Given the description of an element on the screen output the (x, y) to click on. 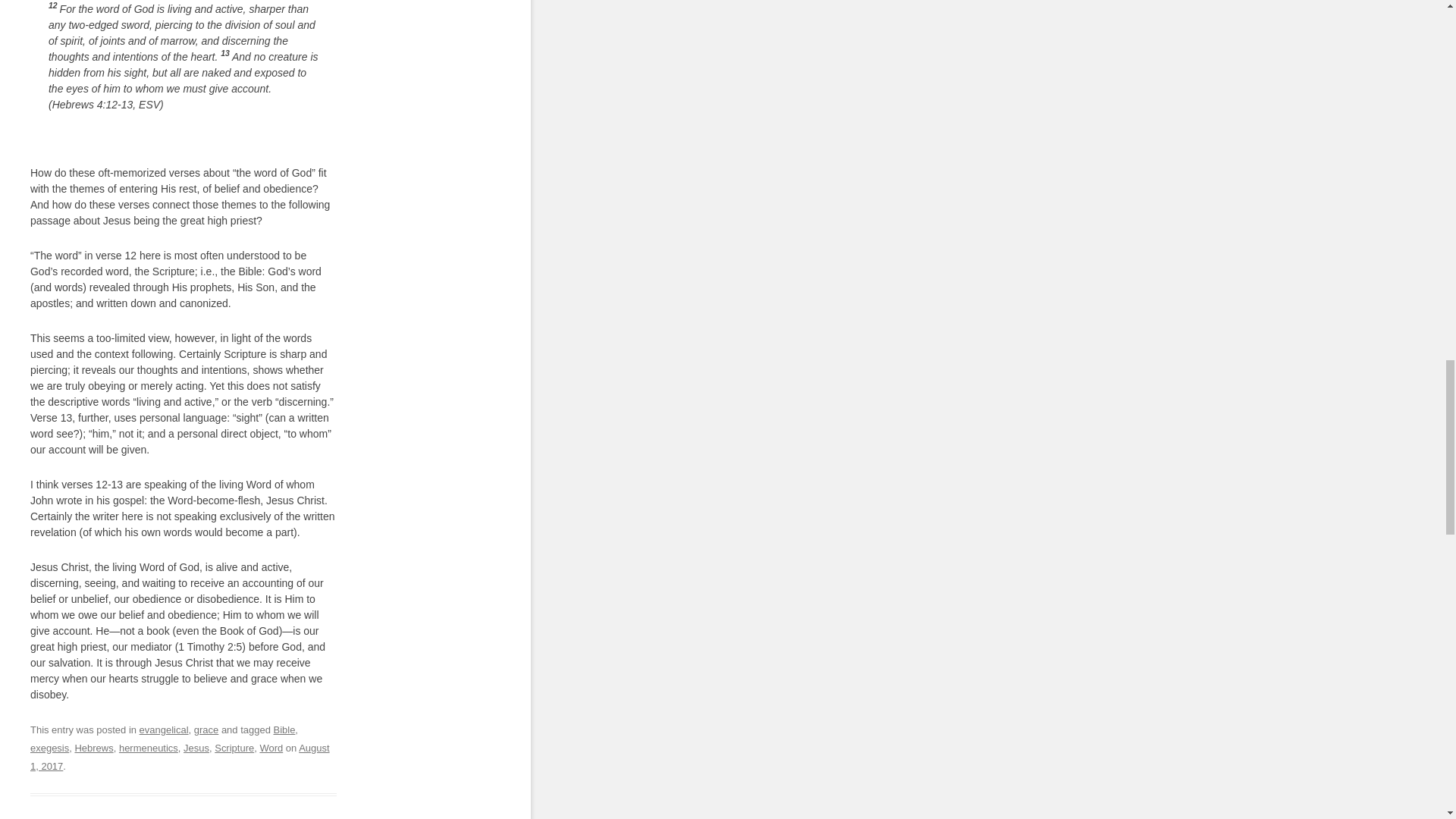
grace (205, 729)
Bible (284, 729)
Hebrews (93, 747)
evangelical (164, 729)
hermeneutics (148, 747)
10:52 am (180, 757)
Jesus (196, 747)
exegesis (49, 747)
